Given the description of an element on the screen output the (x, y) to click on. 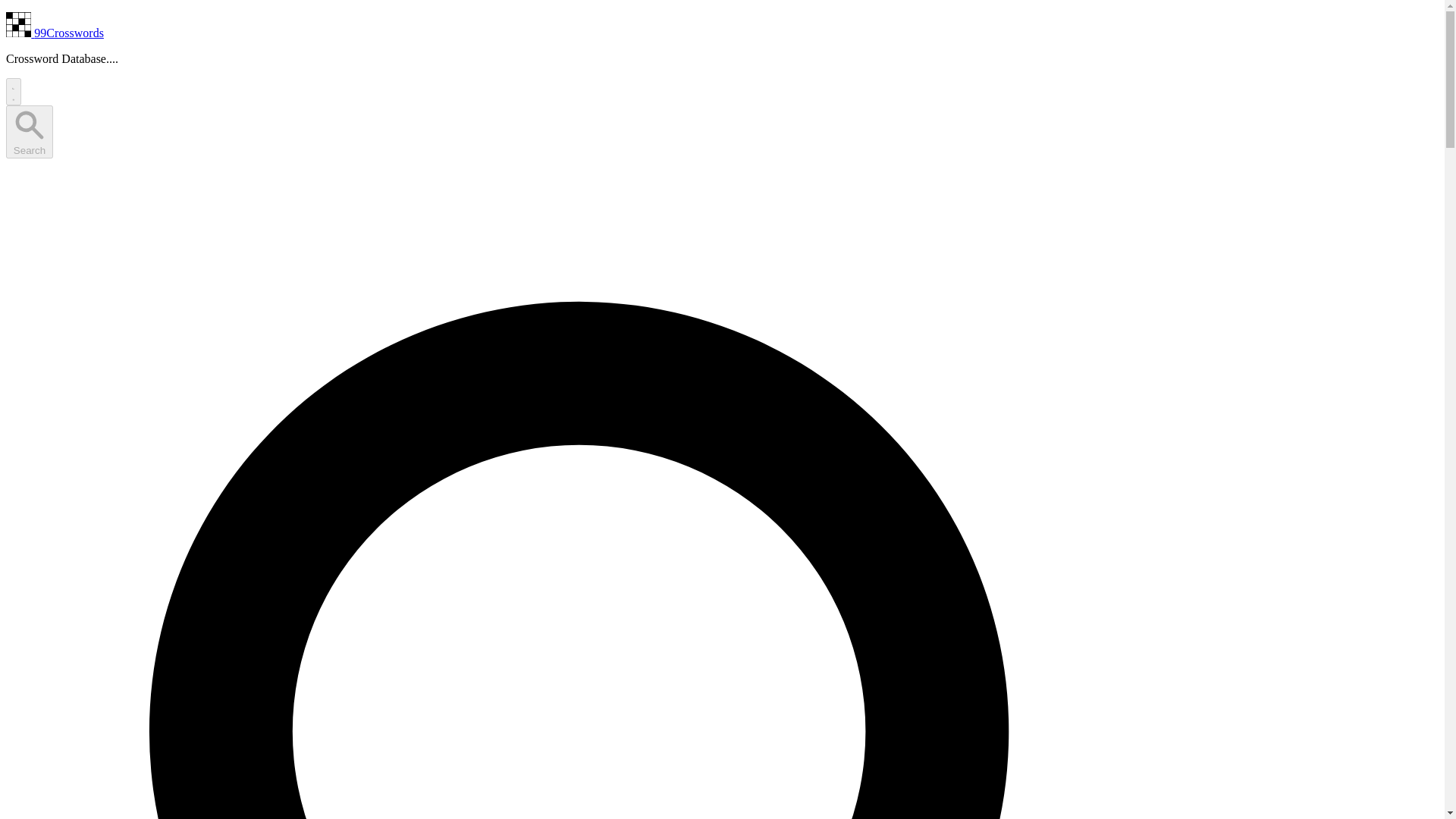
99Crosswords (54, 32)
Search (28, 131)
